Given the description of an element on the screen output the (x, y) to click on. 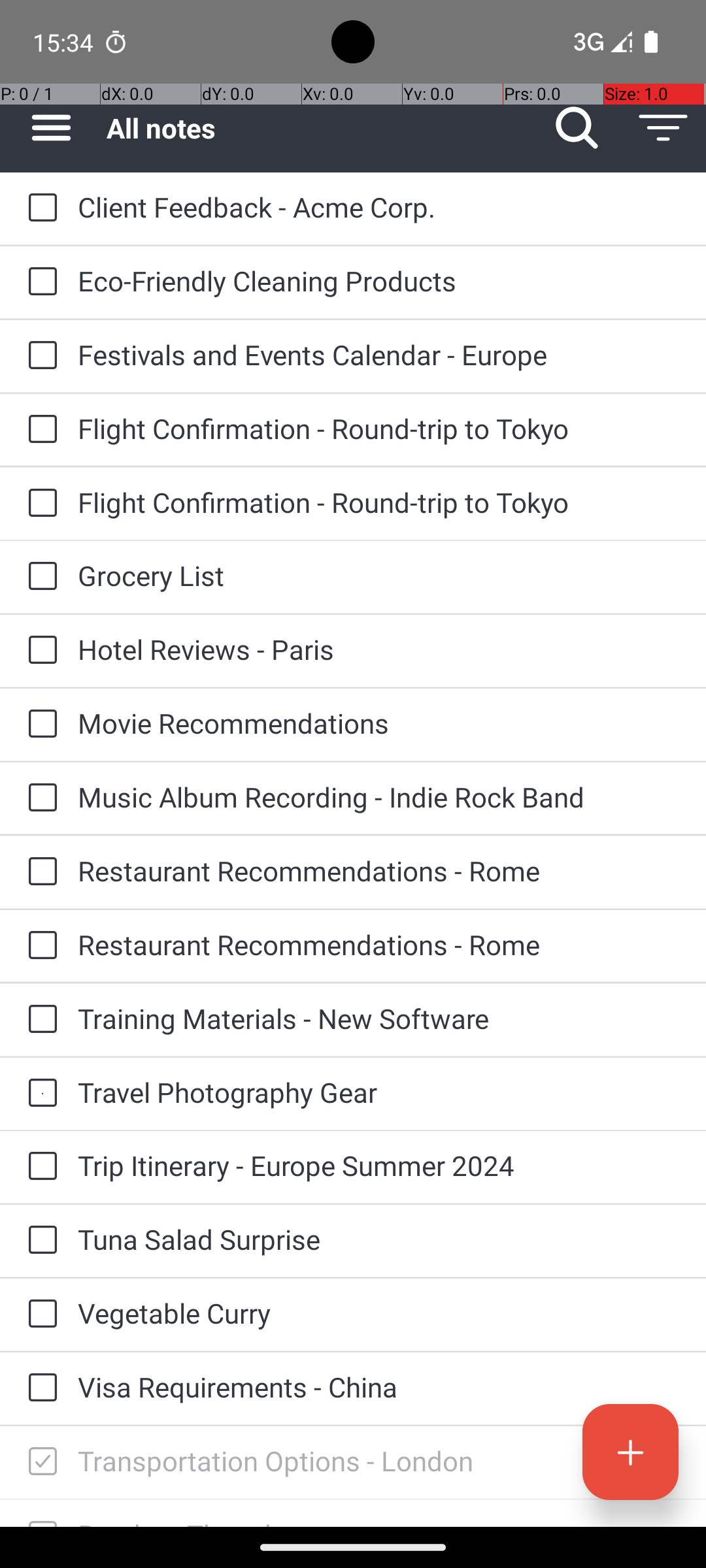
to-do: Client Feedback - Acme Corp. Element type: android.widget.CheckBox (38, 208)
to-do: Eco-Friendly Cleaning Products Element type: android.widget.CheckBox (38, 282)
to-do: Festivals and Events Calendar - Europe Element type: android.widget.CheckBox (38, 356)
Festivals and Events Calendar - Europe Element type: android.widget.TextView (378, 354)
to-do: Flight Confirmation - Round-trip to Tokyo Element type: android.widget.CheckBox (38, 429)
to-do: Hotel Reviews - Paris Element type: android.widget.CheckBox (38, 650)
Hotel Reviews - Paris Element type: android.widget.TextView (378, 648)
to-do: Movie Recommendations Element type: android.widget.CheckBox (38, 724)
Movie Recommendations Element type: android.widget.TextView (378, 722)
to-do: Training Materials - New Software Element type: android.widget.CheckBox (38, 1019)
Training Materials - New Software Element type: android.widget.TextView (378, 1017)
to-do: Travel Photography Gear Element type: android.widget.CheckBox (38, 1093)
Travel Photography Gear Element type: android.widget.TextView (378, 1091)
to-do: Trip Itinerary - Europe Summer 2024 Element type: android.widget.CheckBox (38, 1166)
Trip Itinerary - Europe Summer 2024 Element type: android.widget.TextView (378, 1164)
to-do: Tuna Salad Surprise Element type: android.widget.CheckBox (38, 1240)
Tuna Salad Surprise Element type: android.widget.TextView (378, 1238)
to-do: Vegetable Curry Element type: android.widget.CheckBox (38, 1314)
Vegetable Curry Element type: android.widget.TextView (378, 1312)
to-do: Visa Requirements - China Element type: android.widget.CheckBox (38, 1388)
Visa Requirements - China Element type: android.widget.TextView (378, 1386)
to-do: Transportation Options - London Element type: android.widget.CheckBox (38, 1462)
Transportation Options - London Element type: android.widget.TextView (378, 1460)
to-do: Random Thoughts Element type: android.widget.CheckBox (38, 1513)
Random Thoughts Element type: android.widget.TextView (378, 1520)
